Given the description of an element on the screen output the (x, y) to click on. 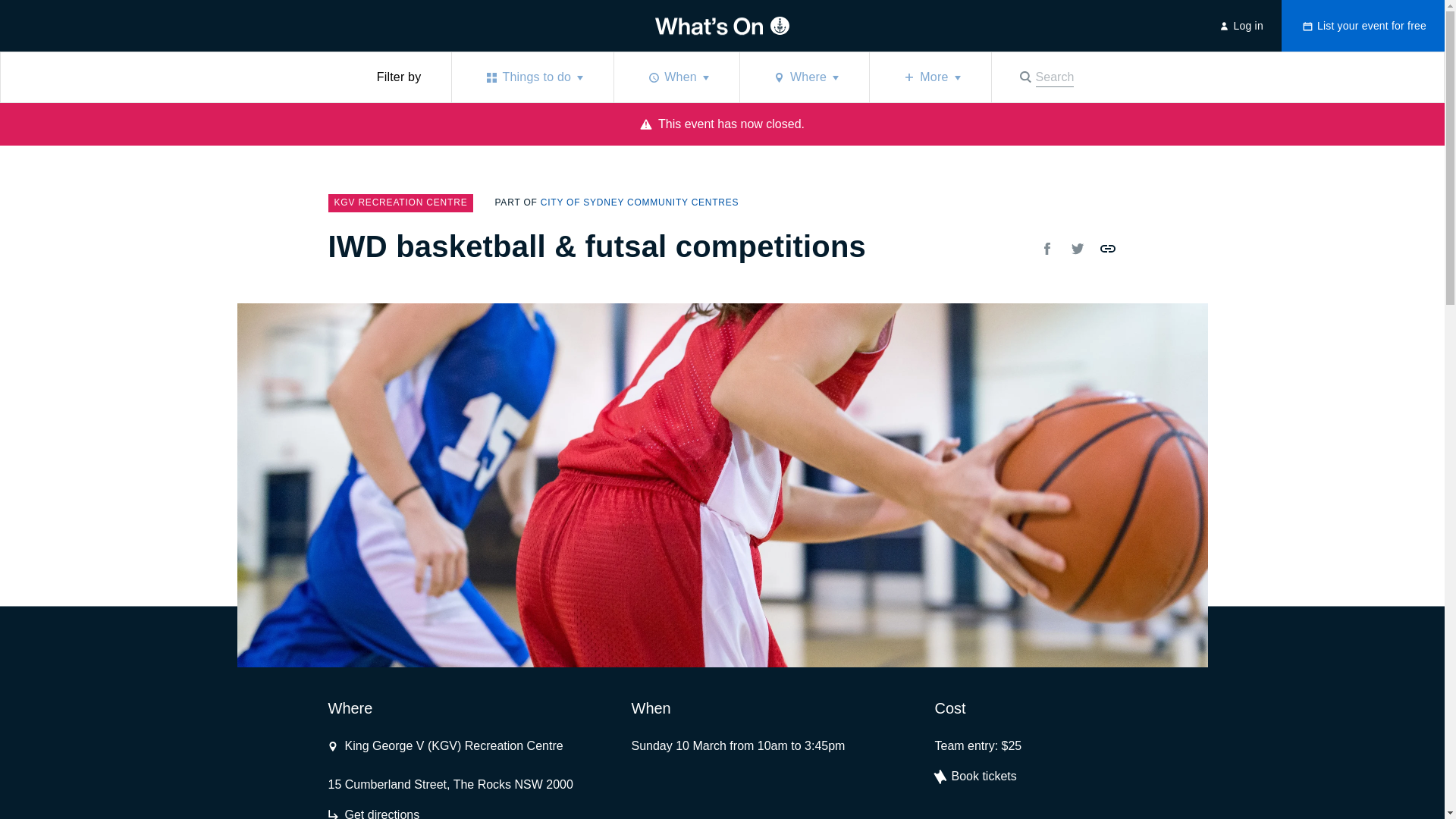
Share on Facebook (373, 812)
Where (1045, 248)
Search (804, 77)
City of Sydney Community Centres (1045, 77)
Share on Twitter (639, 203)
Copy this link (1076, 248)
Things to do (1106, 248)
Share on Twitter (531, 77)
More (1076, 248)
CITY OF SYDNEY COMMUNITY CENTRES (929, 77)
Search (639, 203)
When (1045, 77)
Copy this link (676, 77)
Log in (1106, 248)
